Given the description of an element on the screen output the (x, y) to click on. 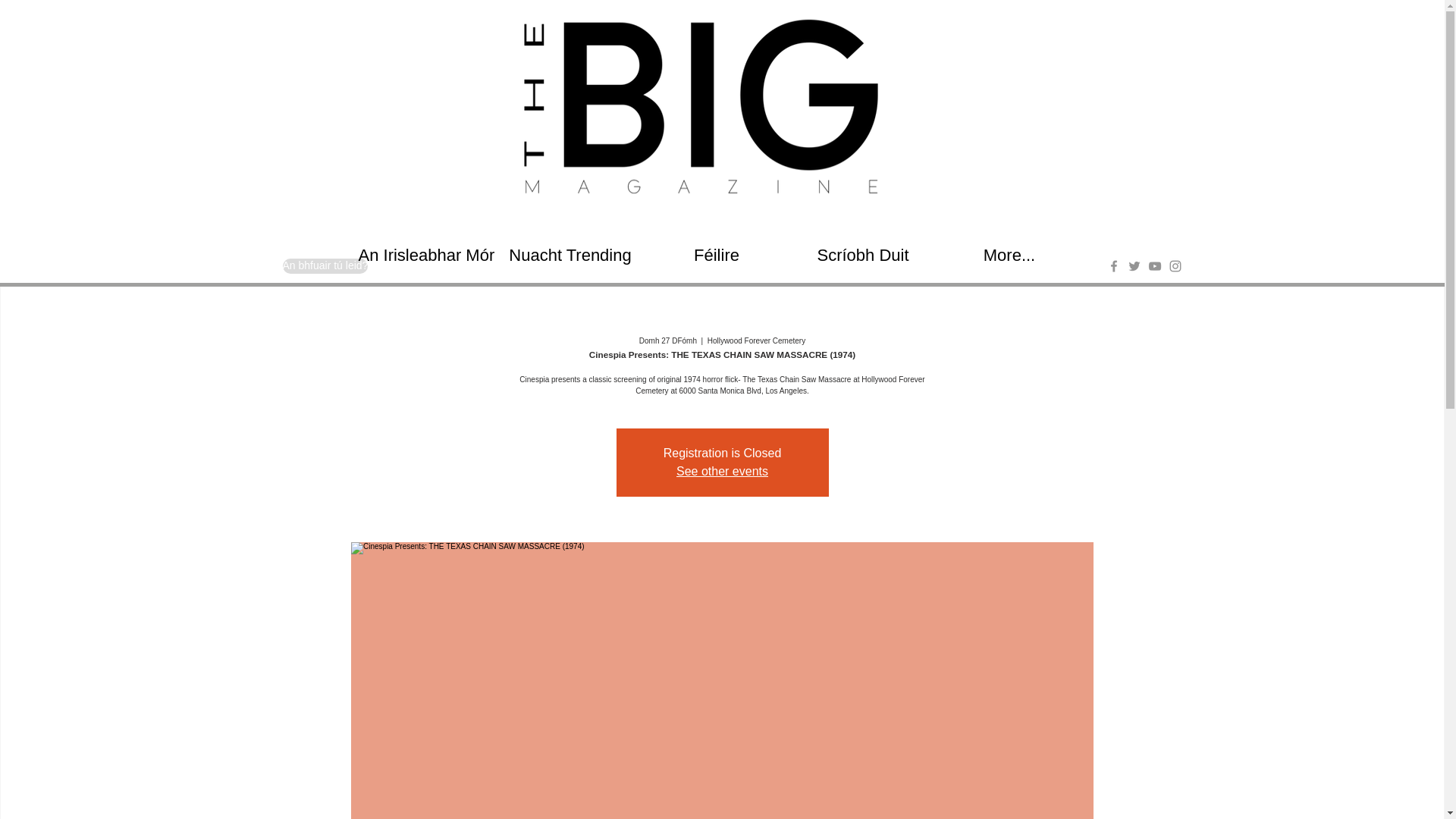
Nuacht Trending (570, 254)
See other events (722, 471)
